Given the description of an element on the screen output the (x, y) to click on. 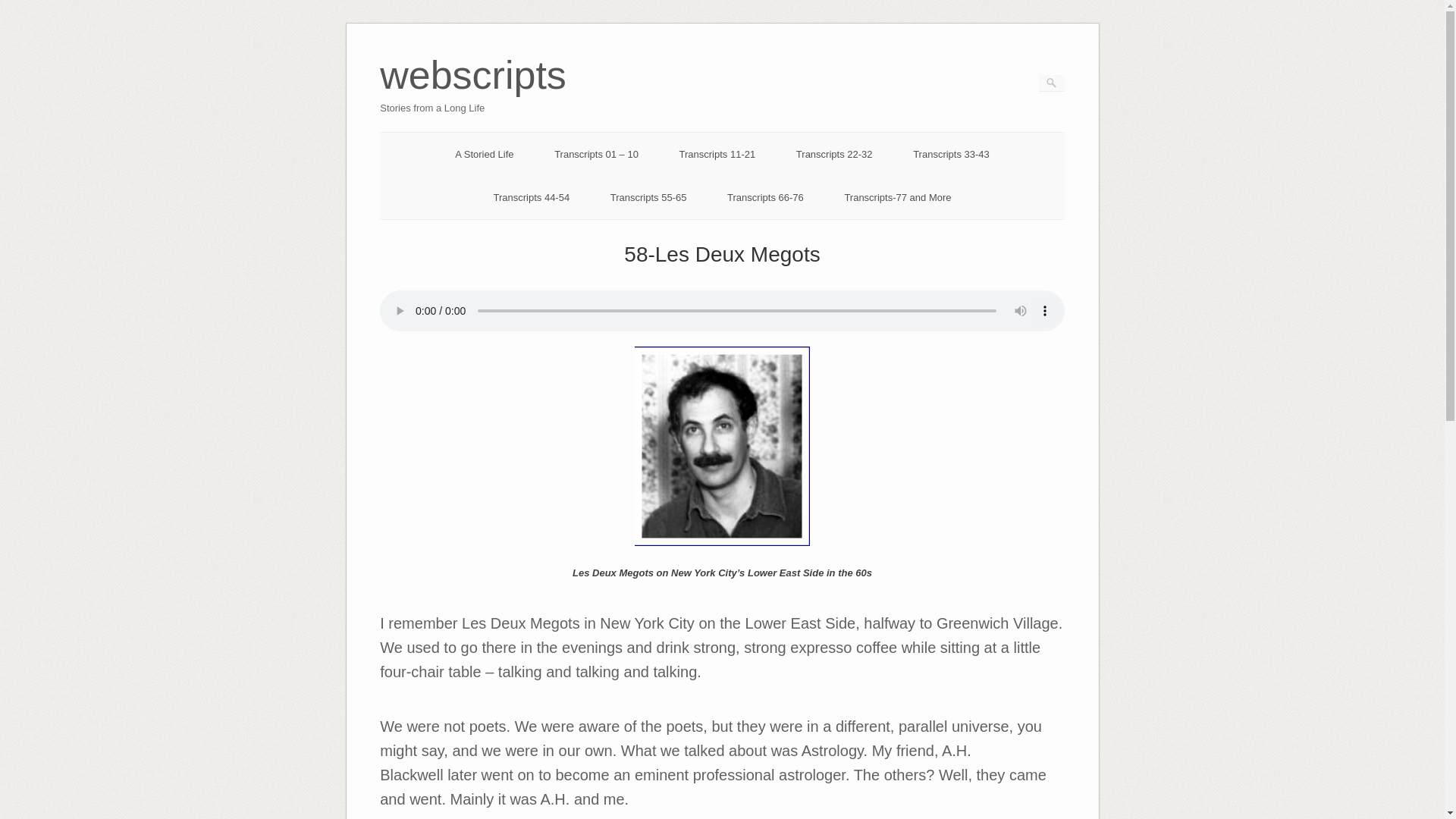
Transcripts 22-32 (834, 153)
Stories from a Long Life (473, 96)
Transcripts 11-21 (717, 153)
Search (473, 96)
A Storied Life (21, 7)
